Given the description of an element on the screen output the (x, y) to click on. 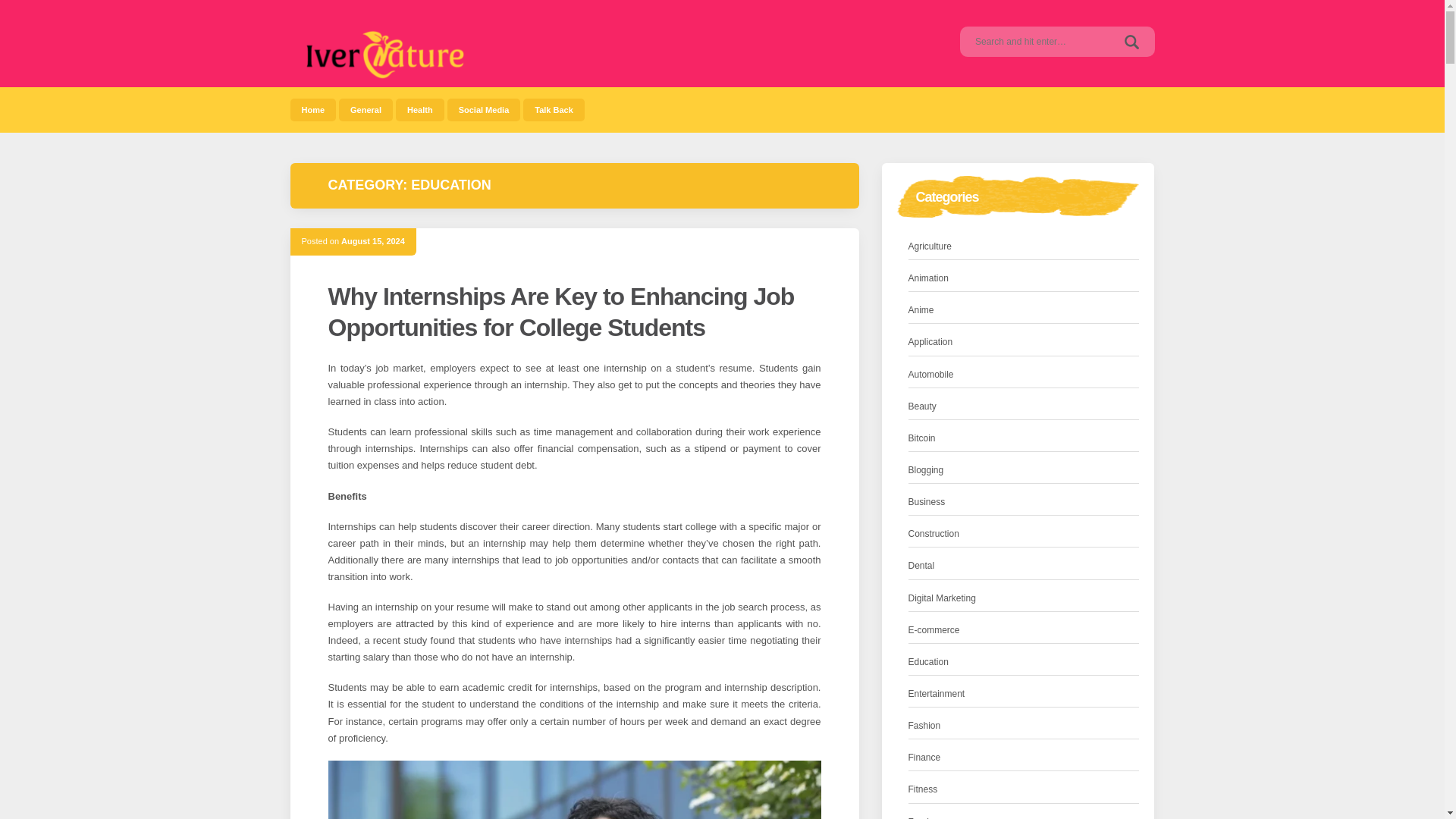
Health (420, 109)
Search (1131, 41)
Search (1131, 41)
Health (420, 109)
Search (1131, 41)
General (366, 109)
Home (312, 109)
Social Media (483, 109)
Talk Back (553, 109)
